Given the description of an element on the screen output the (x, y) to click on. 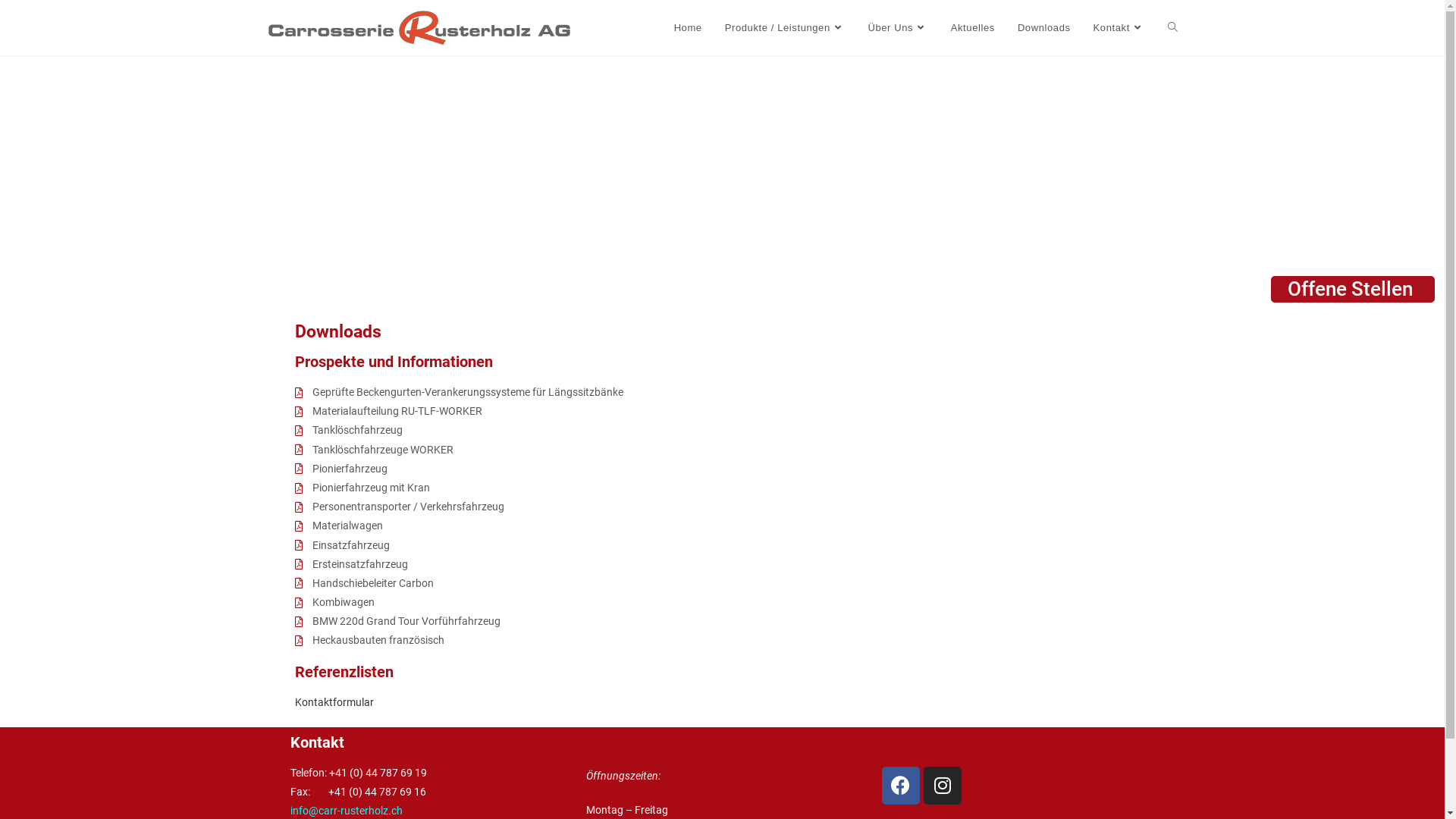
Kombiwagen Element type: text (722, 602)
Kontakt Element type: text (316, 742)
Kontakt Element type: text (1119, 28)
Pionierfahrzeug Element type: text (722, 468)
Pionierfahrzeug mit Kran Element type: text (722, 487)
Kontaktformular  Element type: text (335, 702)
Handschiebeleiter Carbon Element type: text (722, 583)
Personentransporter / Verkehrsfahrzeug Element type: text (722, 506)
Ersteinsatzfahrzeug Element type: text (722, 564)
Materialaufteilung RU-TLF-WORKER Element type: text (722, 410)
Materialwagen Element type: text (722, 525)
Einsatzfahrzeug Element type: text (722, 544)
Offene Stellen Element type: text (1352, 289)
Downloads Element type: text (1044, 28)
info@carr-rusterholz.ch Element type: text (345, 810)
Home Element type: text (687, 28)
Aktuelles Element type: text (972, 28)
Produkte / Leistungen Element type: text (784, 28)
